Given the description of an element on the screen output the (x, y) to click on. 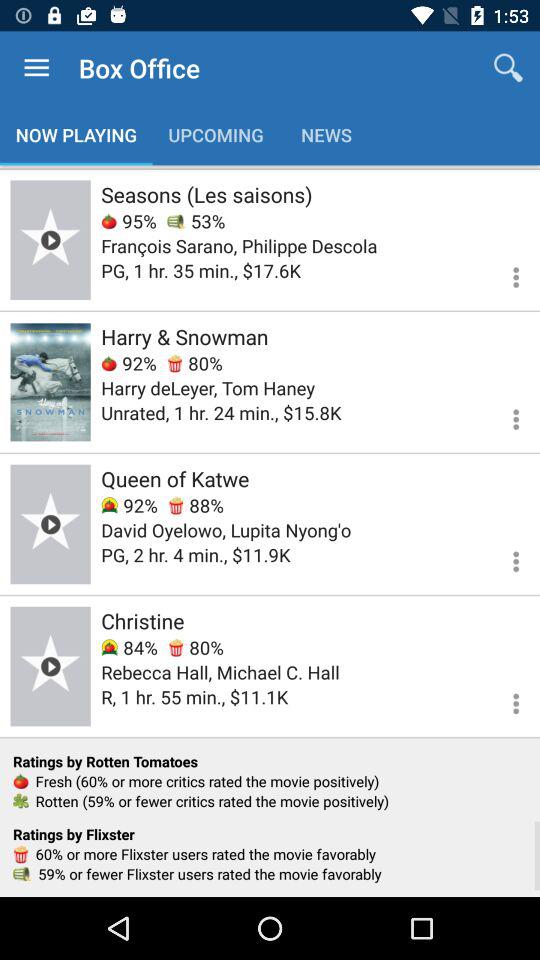
select harry & snowman (184, 336)
